Given the description of an element on the screen output the (x, y) to click on. 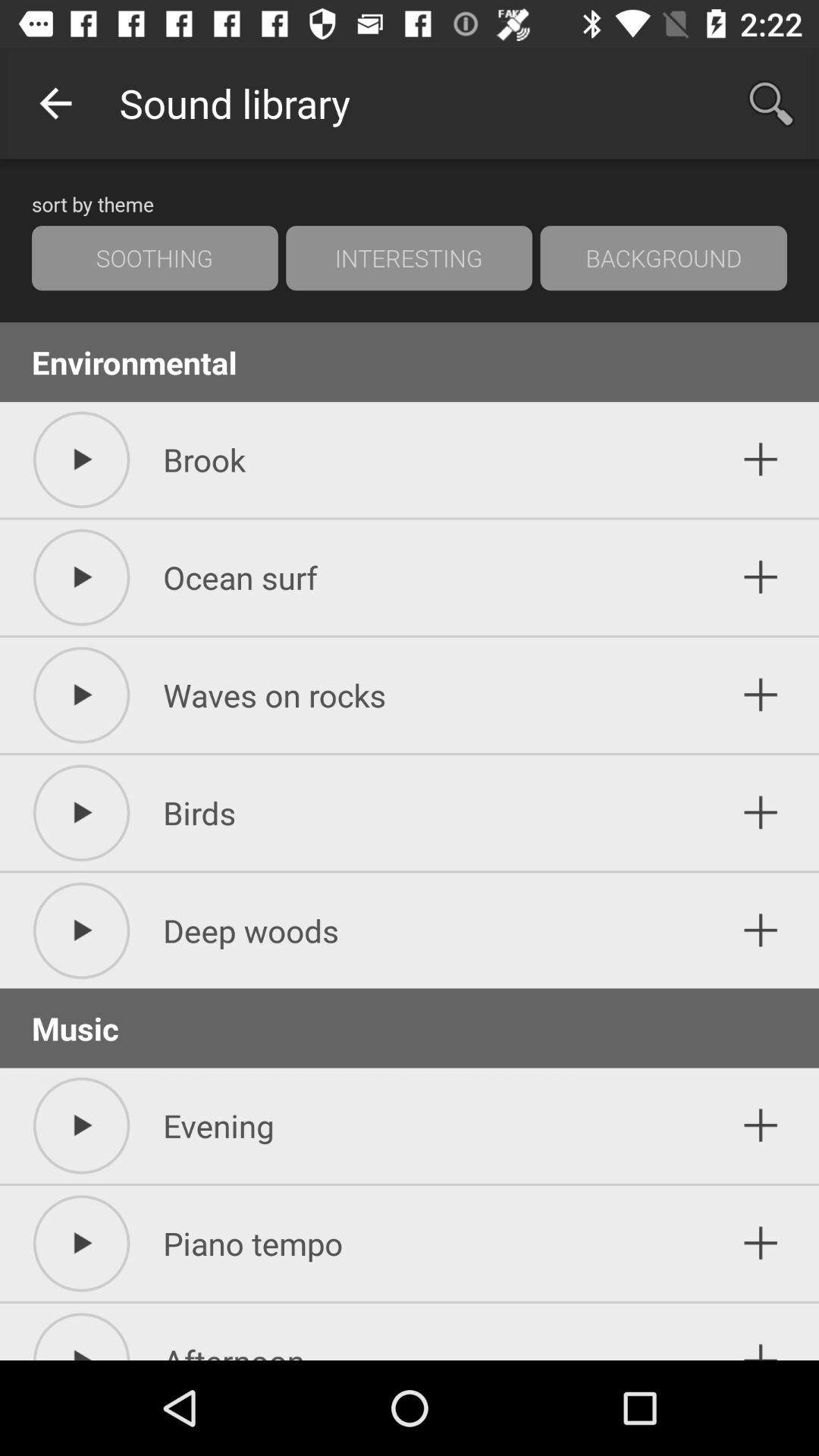
select icon above the sort by theme (55, 103)
